Given the description of an element on the screen output the (x, y) to click on. 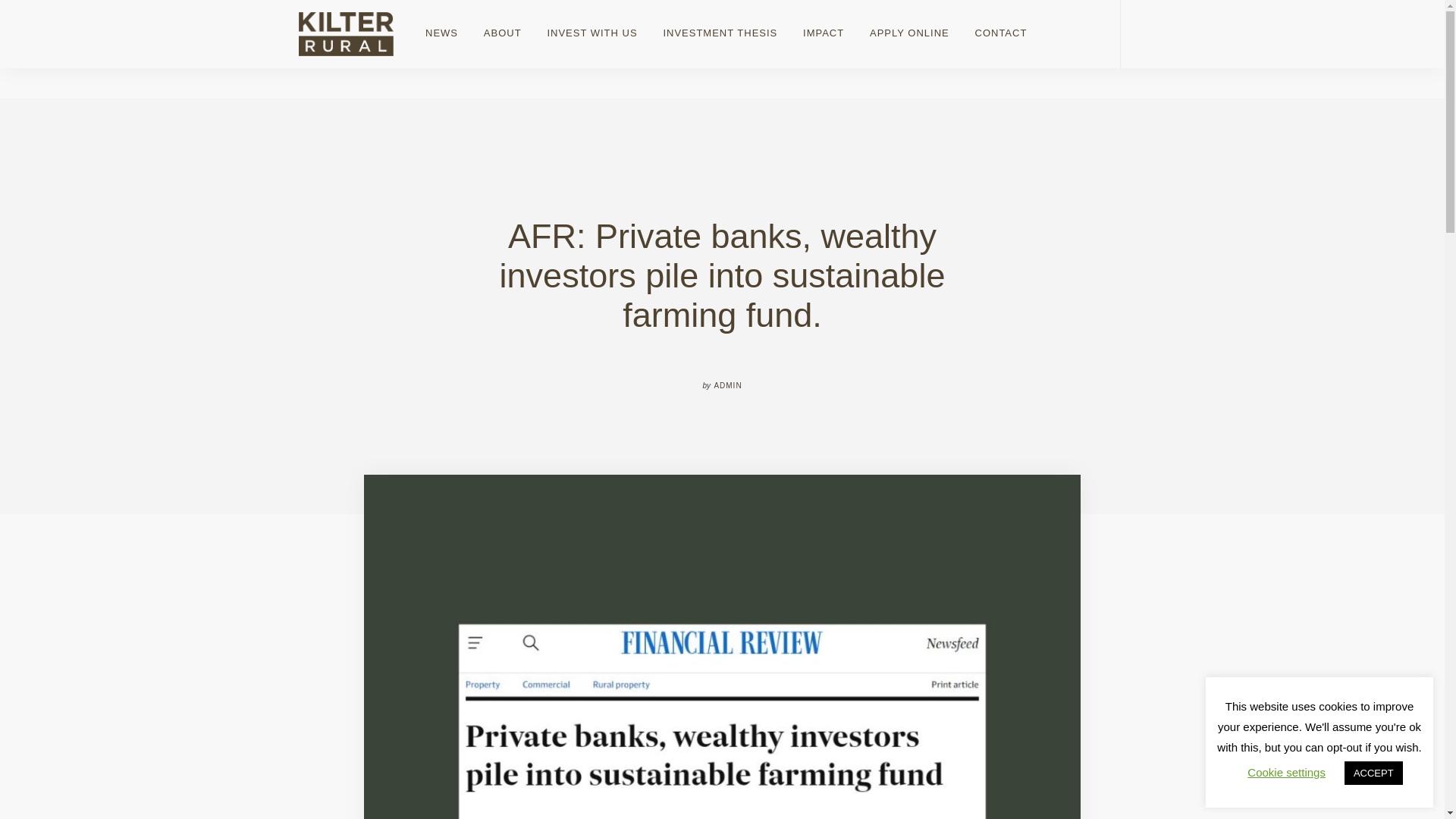
INVESTMENT THESIS (719, 33)
APPLY ONLINE (909, 33)
IMPACT (823, 33)
INVEST WITH US (591, 33)
ABOUT (502, 33)
CONTACT (994, 33)
